Given the description of an element on the screen output the (x, y) to click on. 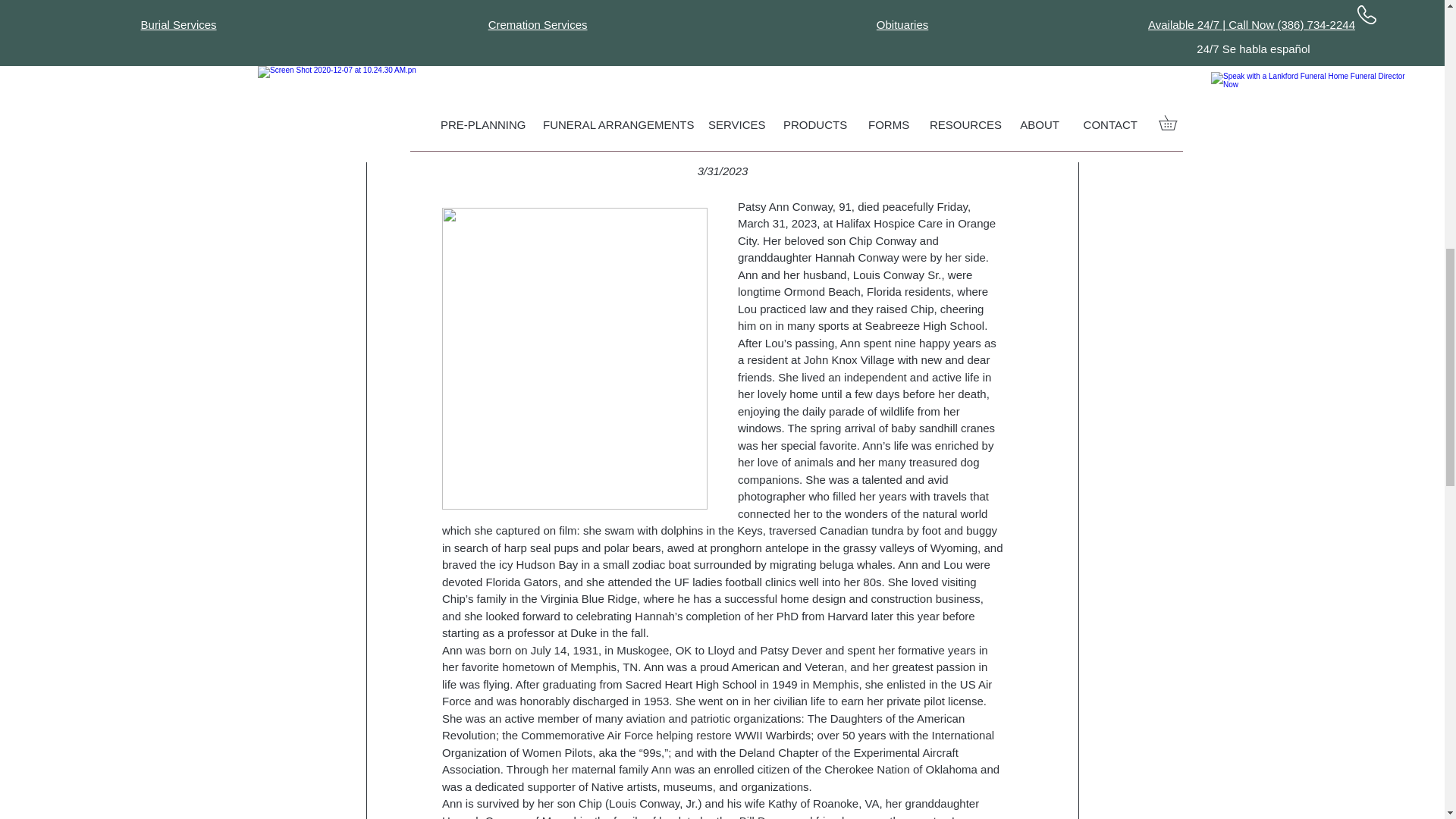
Lankford Funeral Home (525, 65)
Mar 31, 2023 (631, 64)
